Given the description of an element on the screen output the (x, y) to click on. 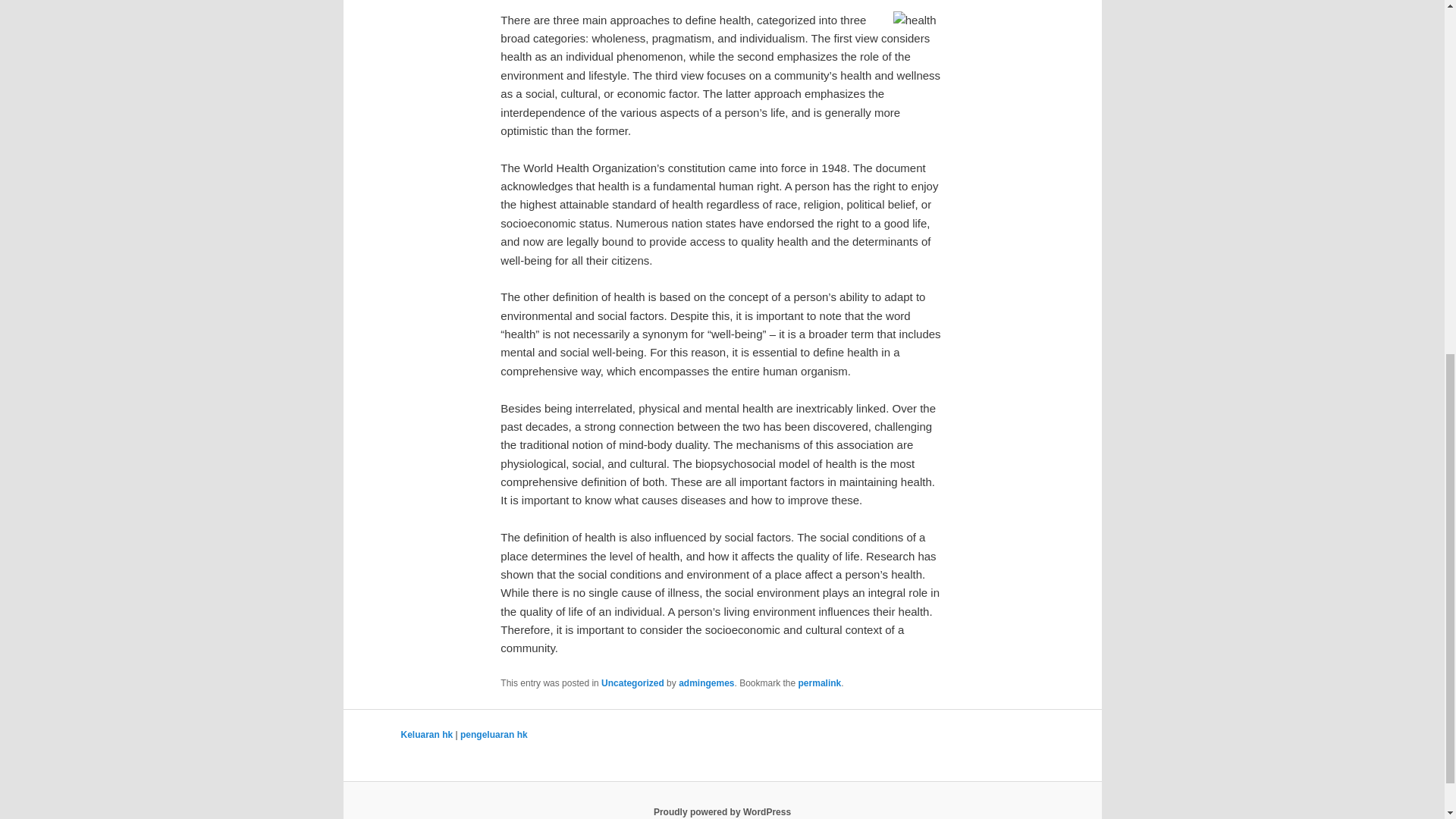
Proudly powered by WordPress (721, 811)
pengeluaran hk (493, 734)
permalink (819, 683)
Uncategorized (632, 683)
Permalink to The Definition of Health (819, 683)
Keluaran hk (426, 734)
Semantic Personal Publishing Platform (721, 811)
admingemes (705, 683)
